Given the description of an element on the screen output the (x, y) to click on. 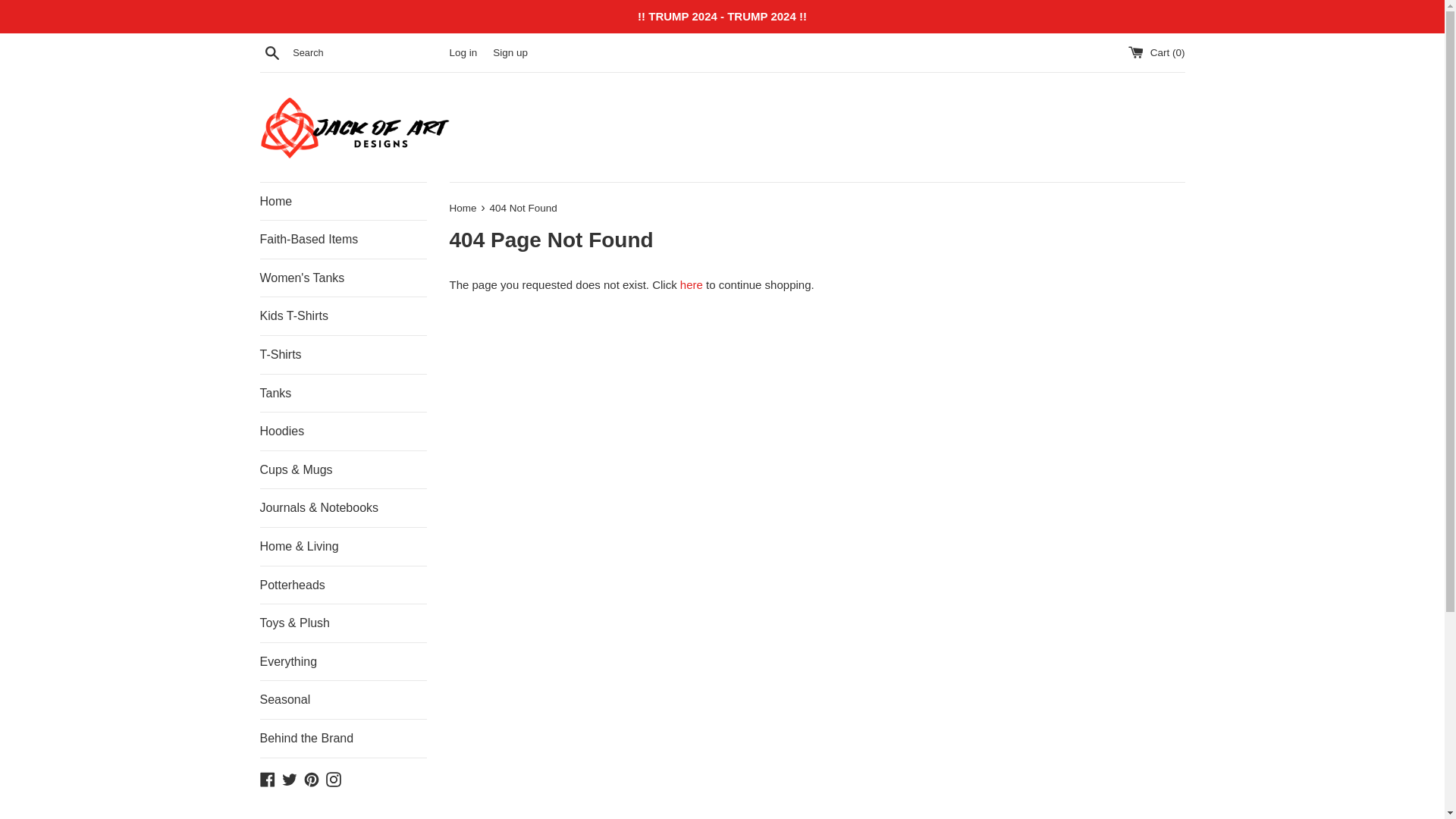
Sign up (510, 52)
Search (271, 52)
Kids T-Shirts (342, 315)
Faith-Based Items (342, 239)
Hoodies (342, 431)
Jack of Art Shop on Facebook (267, 778)
Pinterest (311, 778)
Log in (462, 52)
Back to the frontpage (463, 207)
Facebook (267, 778)
